Given the description of an element on the screen output the (x, y) to click on. 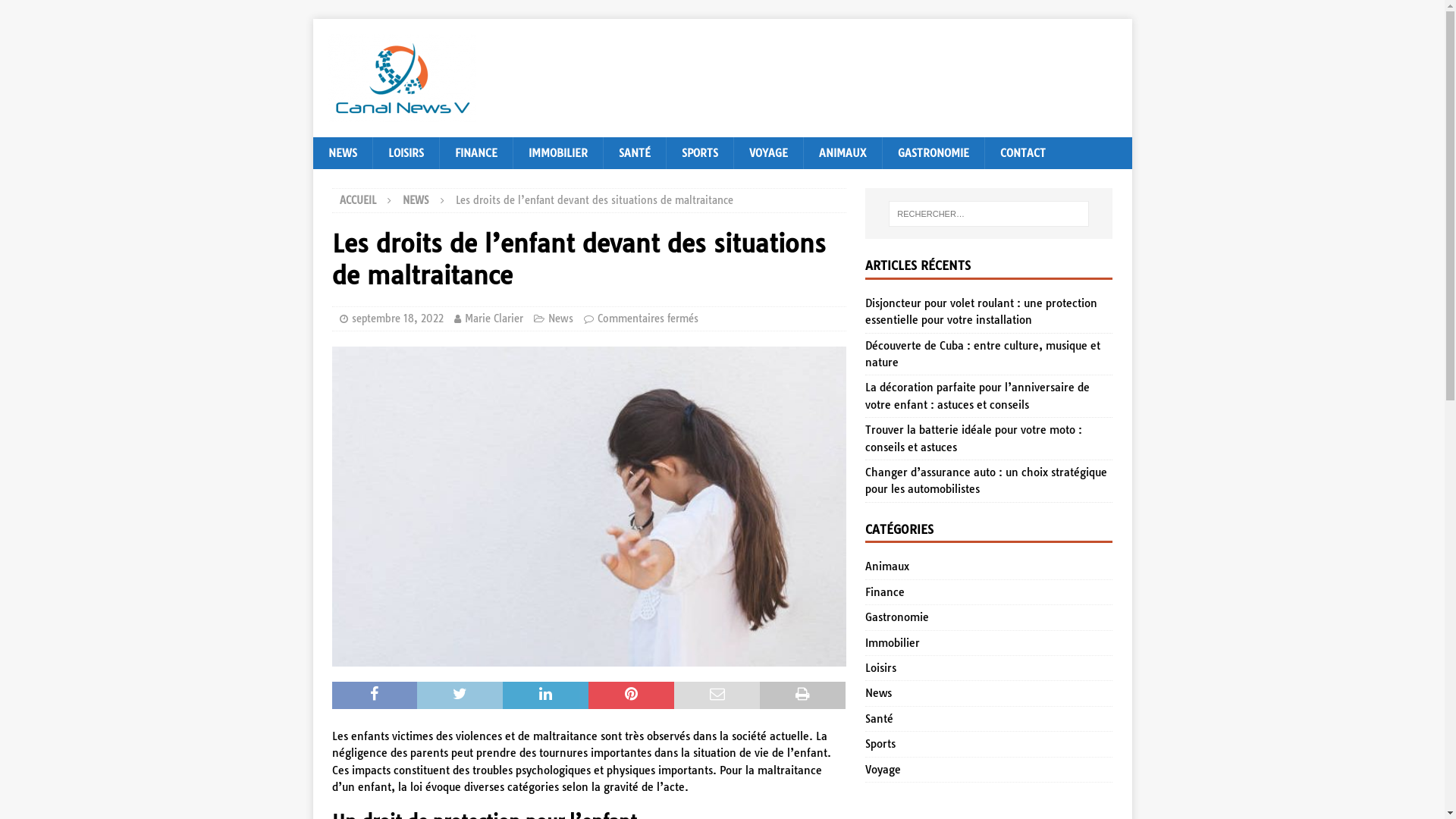
NEWS Element type: text (414, 200)
Rechercher Element type: text (56, 11)
Immobilier Element type: text (988, 642)
SPORTS Element type: text (699, 153)
Marie Clarier Element type: text (493, 318)
News Element type: text (988, 692)
Voyage Element type: text (988, 769)
LOISIRS Element type: text (404, 153)
Finance Element type: text (988, 592)
GASTRONOMIE Element type: text (932, 153)
FINANCE Element type: text (474, 153)
IMMOBILIER Element type: text (557, 153)
CONTACT Element type: text (1022, 153)
Animaux Element type: text (988, 568)
VOYAGE Element type: text (767, 153)
ACCUEIL Element type: text (357, 200)
ANIMAUX Element type: text (841, 153)
Sports Element type: text (988, 743)
septembre 18, 2022 Element type: text (397, 318)
Loisirs Element type: text (988, 667)
News Element type: text (559, 318)
NEWS Element type: text (341, 153)
Gastronomie Element type: text (988, 617)
